Given the description of an element on the screen output the (x, y) to click on. 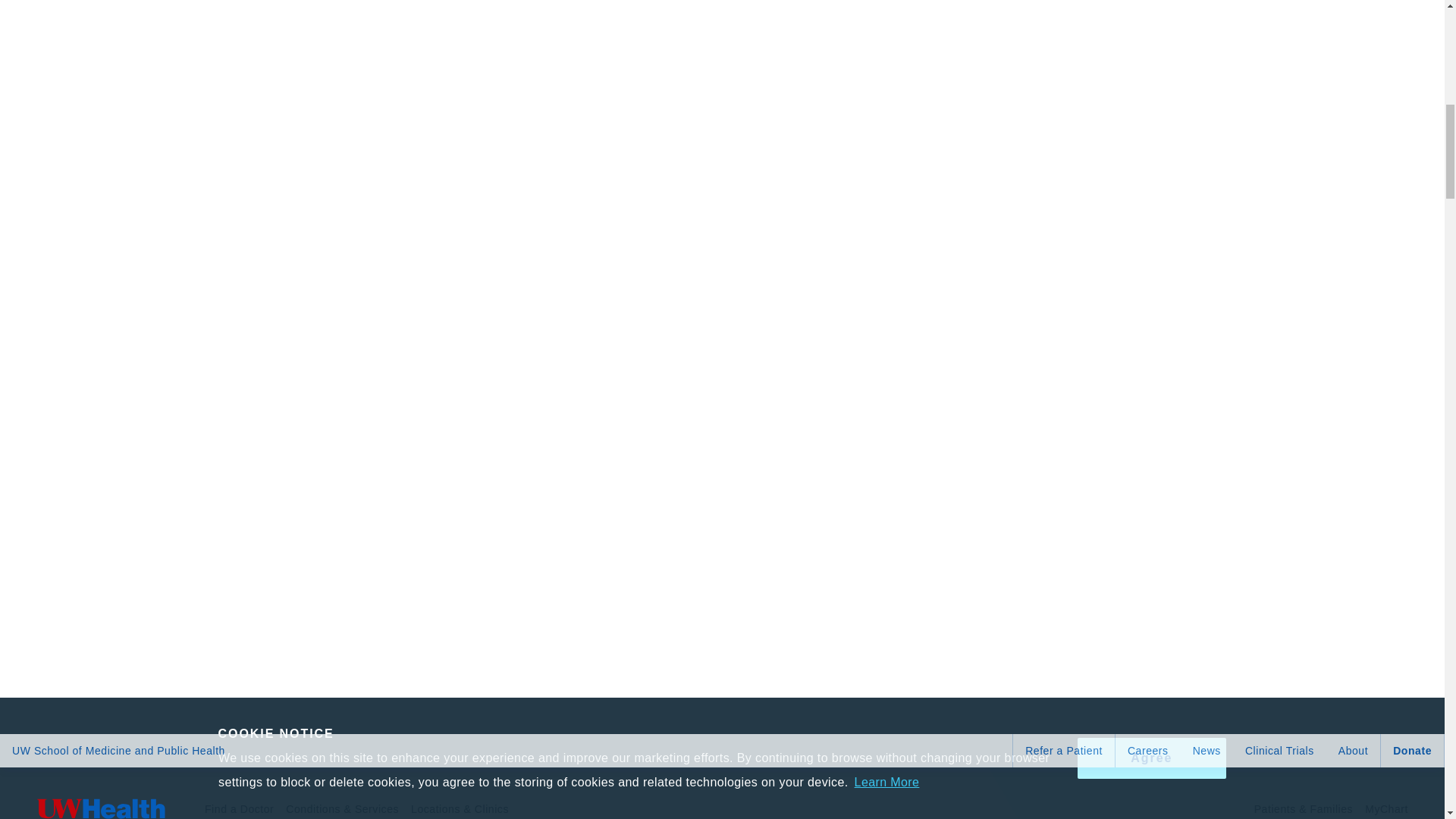
MyChart (1386, 798)
UW School of Medicine and Public Health (118, 750)
Careers (1147, 750)
Donate (1412, 750)
Refer a Patient (1064, 750)
Clinical Trials (1279, 750)
Find a Doctor (239, 798)
News (1206, 750)
About (1353, 750)
